Given the description of an element on the screen output the (x, y) to click on. 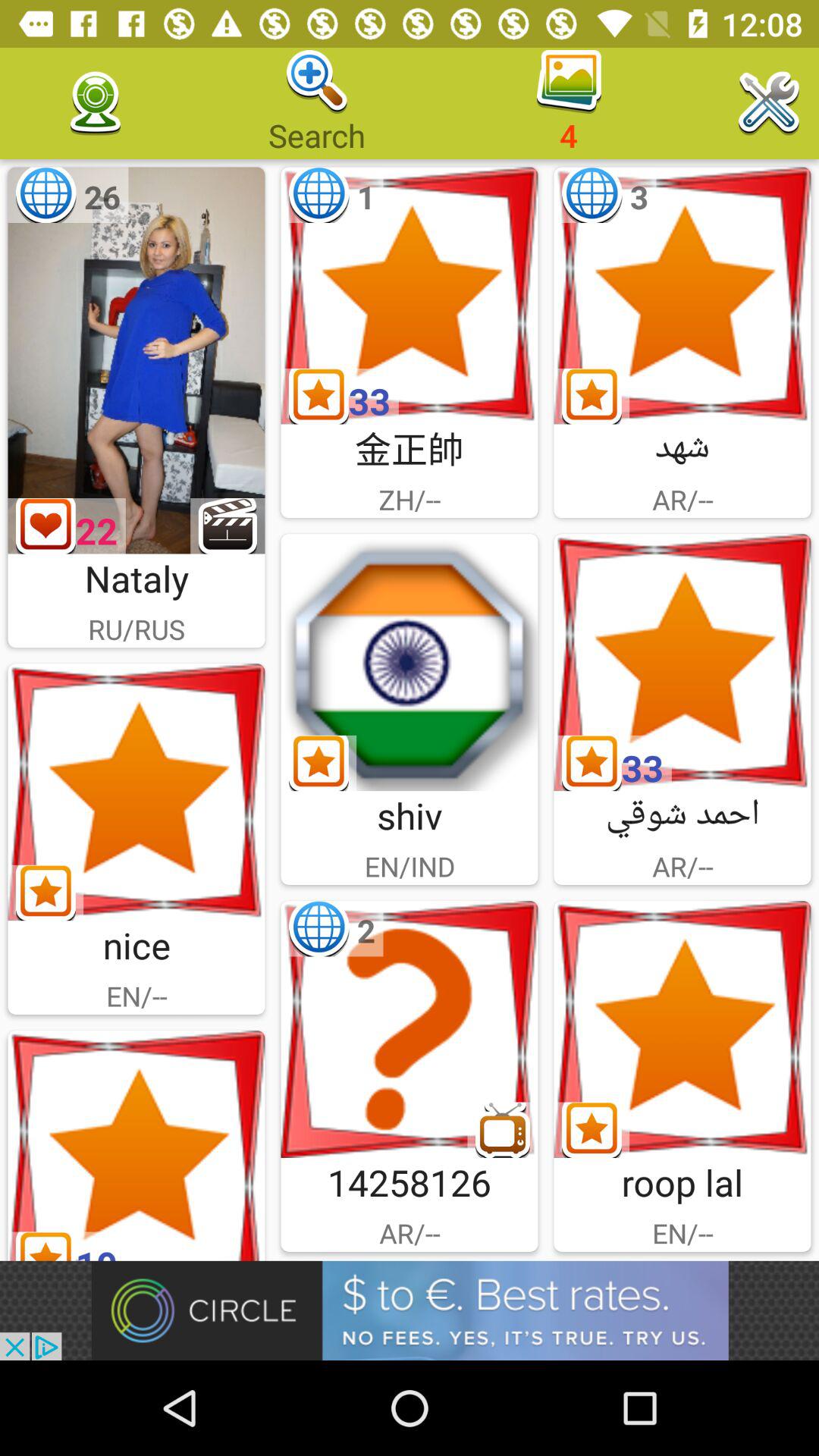
starred (682, 662)
